Given the description of an element on the screen output the (x, y) to click on. 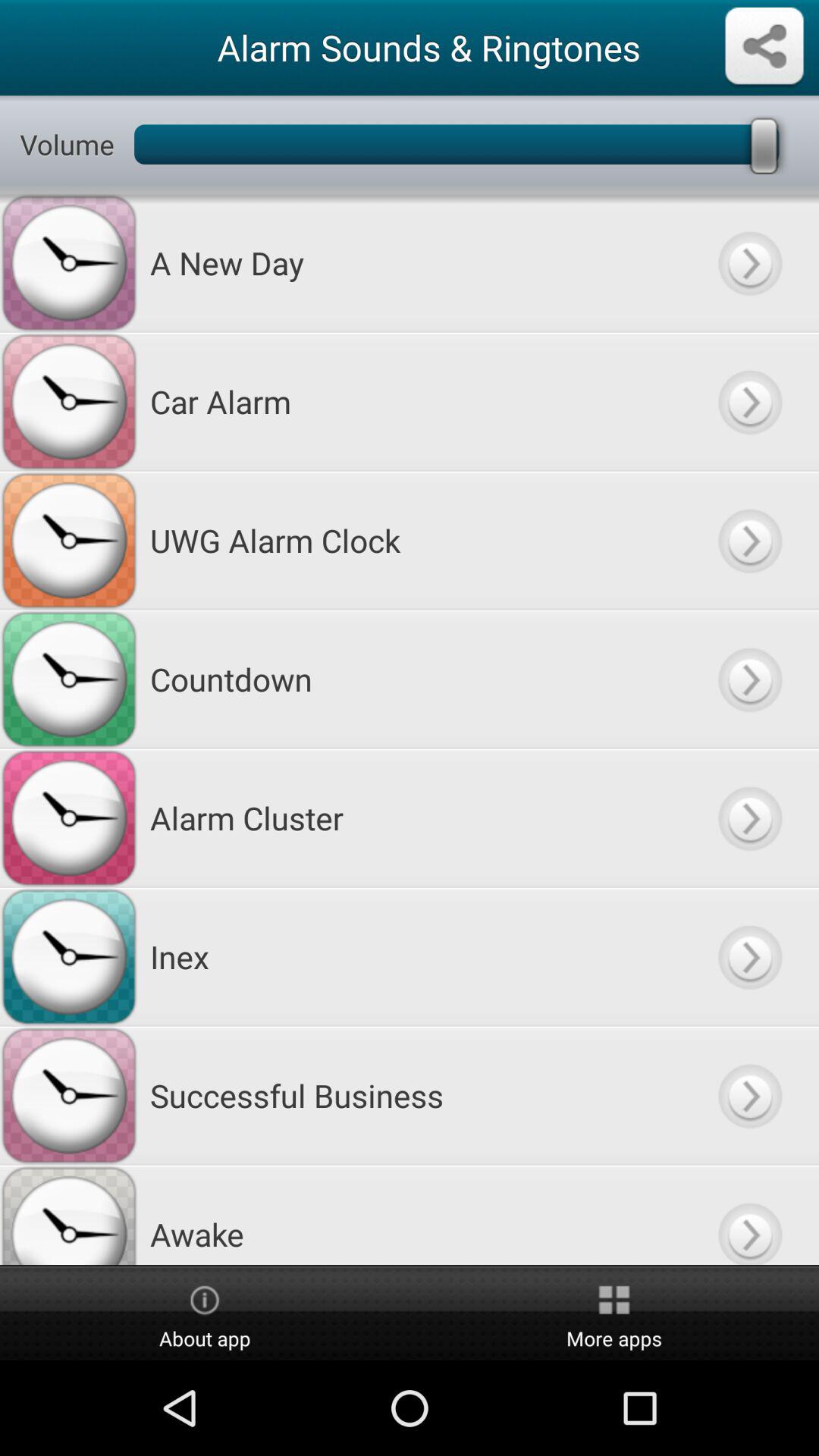
forwort (749, 956)
